Given the description of an element on the screen output the (x, y) to click on. 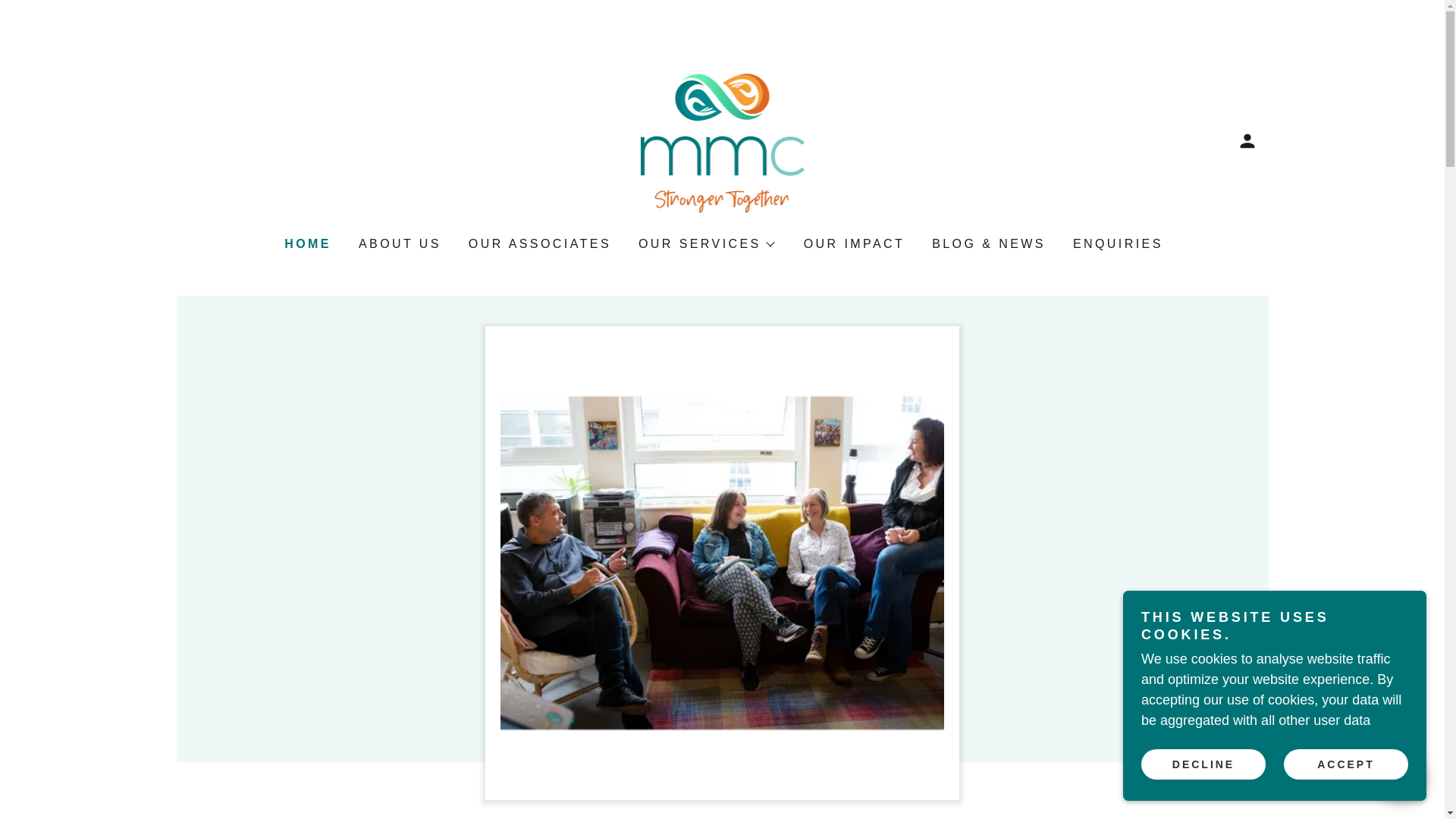
ENQUIRIES (1116, 243)
OUR ASSOCIATES (538, 243)
ABOUT US (397, 243)
OUR SERVICES (705, 244)
MMC  (722, 140)
OUR IMPACT (853, 243)
HOME (306, 244)
